Given the description of an element on the screen output the (x, y) to click on. 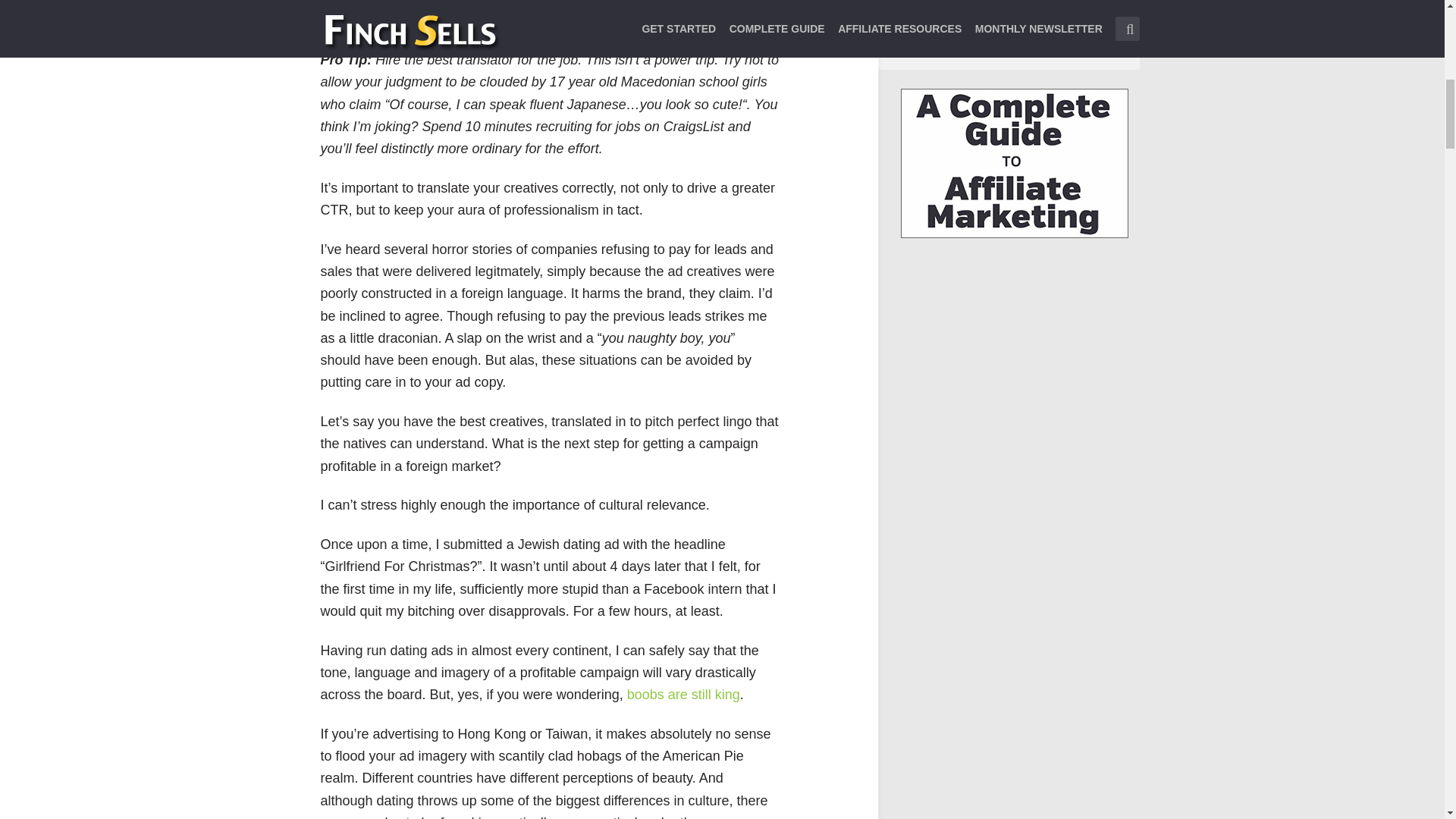
boobs are still king (683, 694)
